Given the description of an element on the screen output the (x, y) to click on. 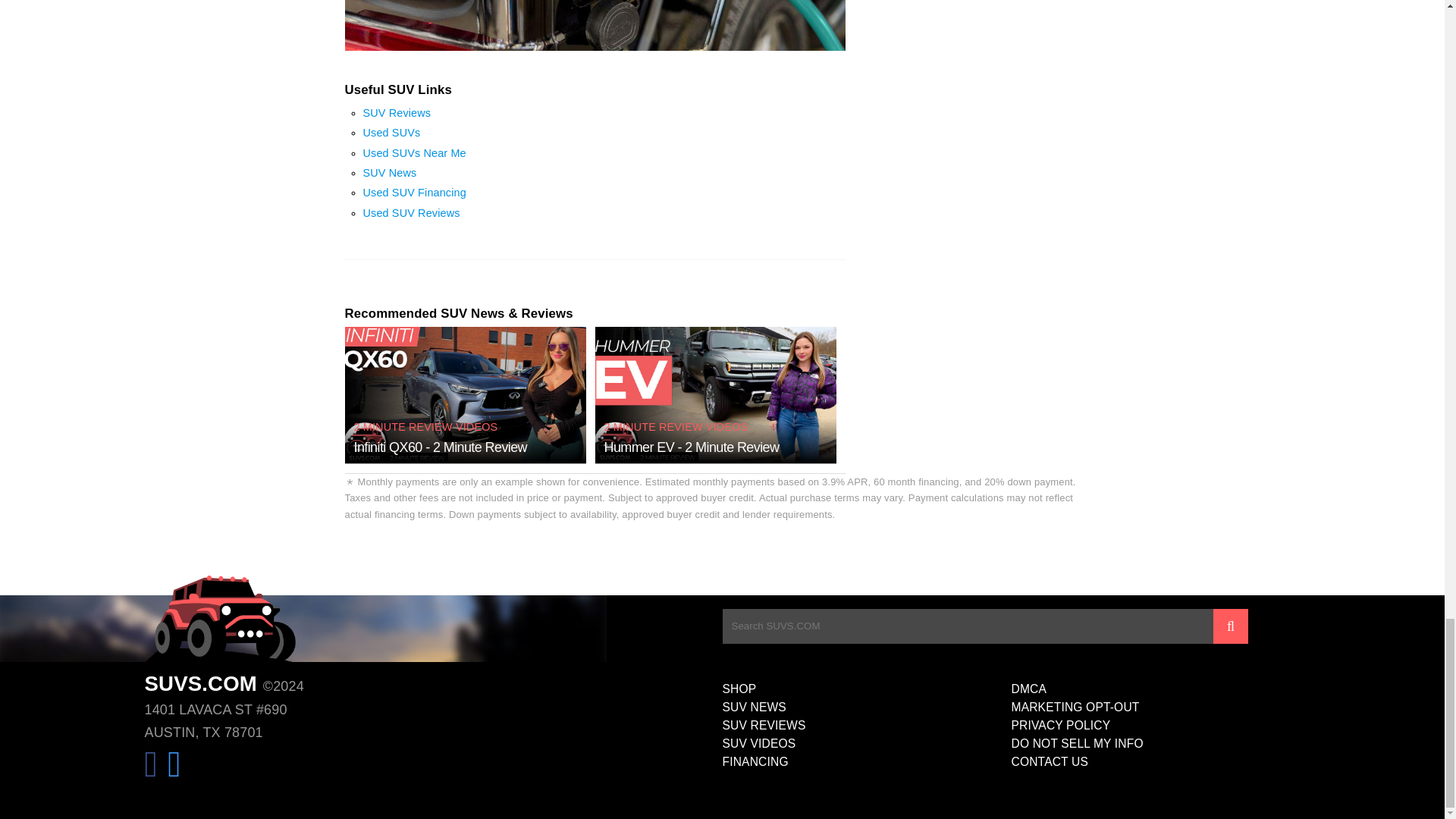
SUV NEWS (866, 707)
PRIVACY POLICY (1155, 725)
Used SUVs Near Me (413, 152)
SUV News (389, 173)
DO NOT SELL MY INFO (1155, 743)
Used SUV Reviews (411, 213)
SUV REVIEWS (866, 725)
Hummer EV - 2 Minute Review (691, 447)
SUV news, reviews, and used cars for sale. (219, 618)
Used SUV Financing (413, 192)
